Given the description of an element on the screen output the (x, y) to click on. 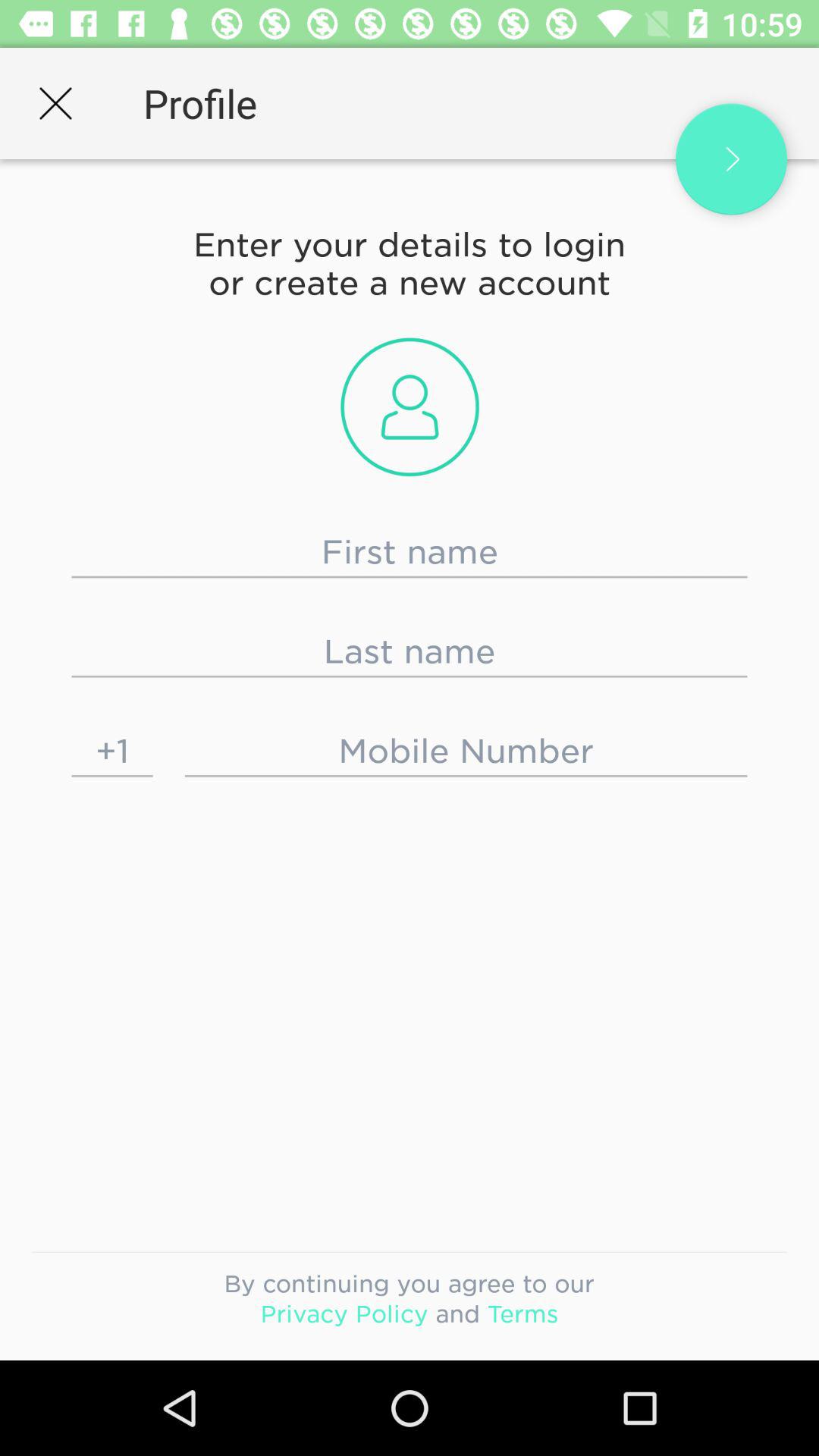
enter your mobile number (465, 750)
